Given the description of an element on the screen output the (x, y) to click on. 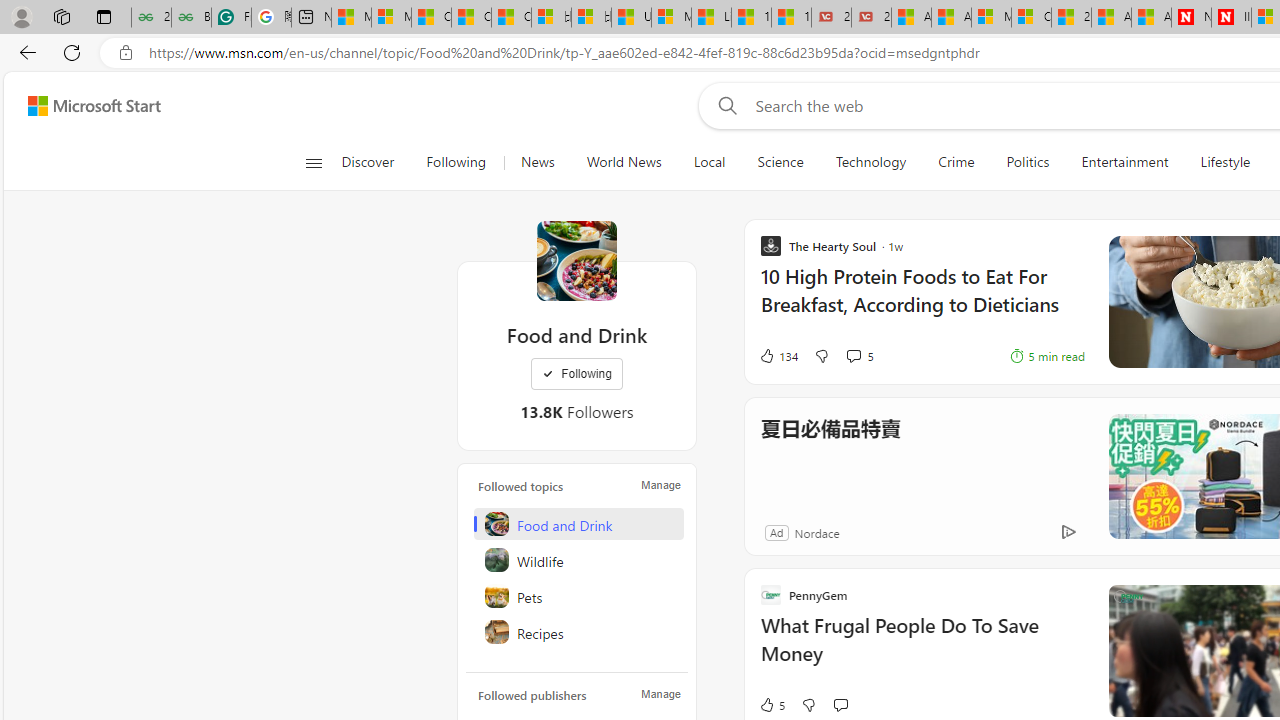
Skip to footer (82, 105)
What Frugal People Do To Save Money (922, 650)
Cloud Computing Services | Microsoft Azure (1031, 17)
News (537, 162)
Discover (367, 162)
Following (577, 373)
Nordace (816, 532)
134 Like (778, 355)
Crime (955, 162)
News (537, 162)
Microsoft Start (351, 17)
Politics (1027, 162)
Science (780, 162)
